Given the description of an element on the screen output the (x, y) to click on. 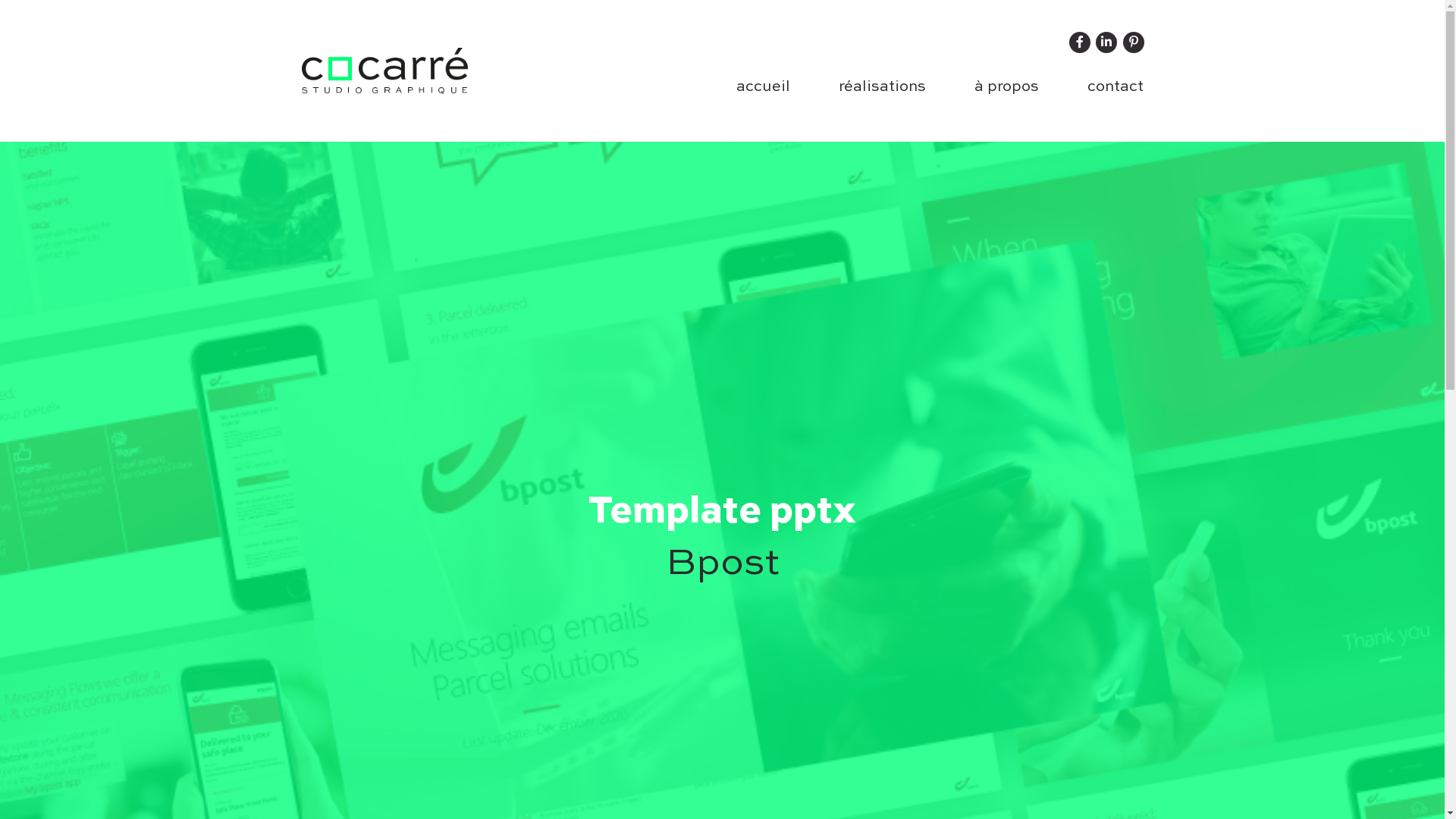
contact Element type: text (1109, 86)
accueil Element type: text (762, 86)
